Given the description of an element on the screen output the (x, y) to click on. 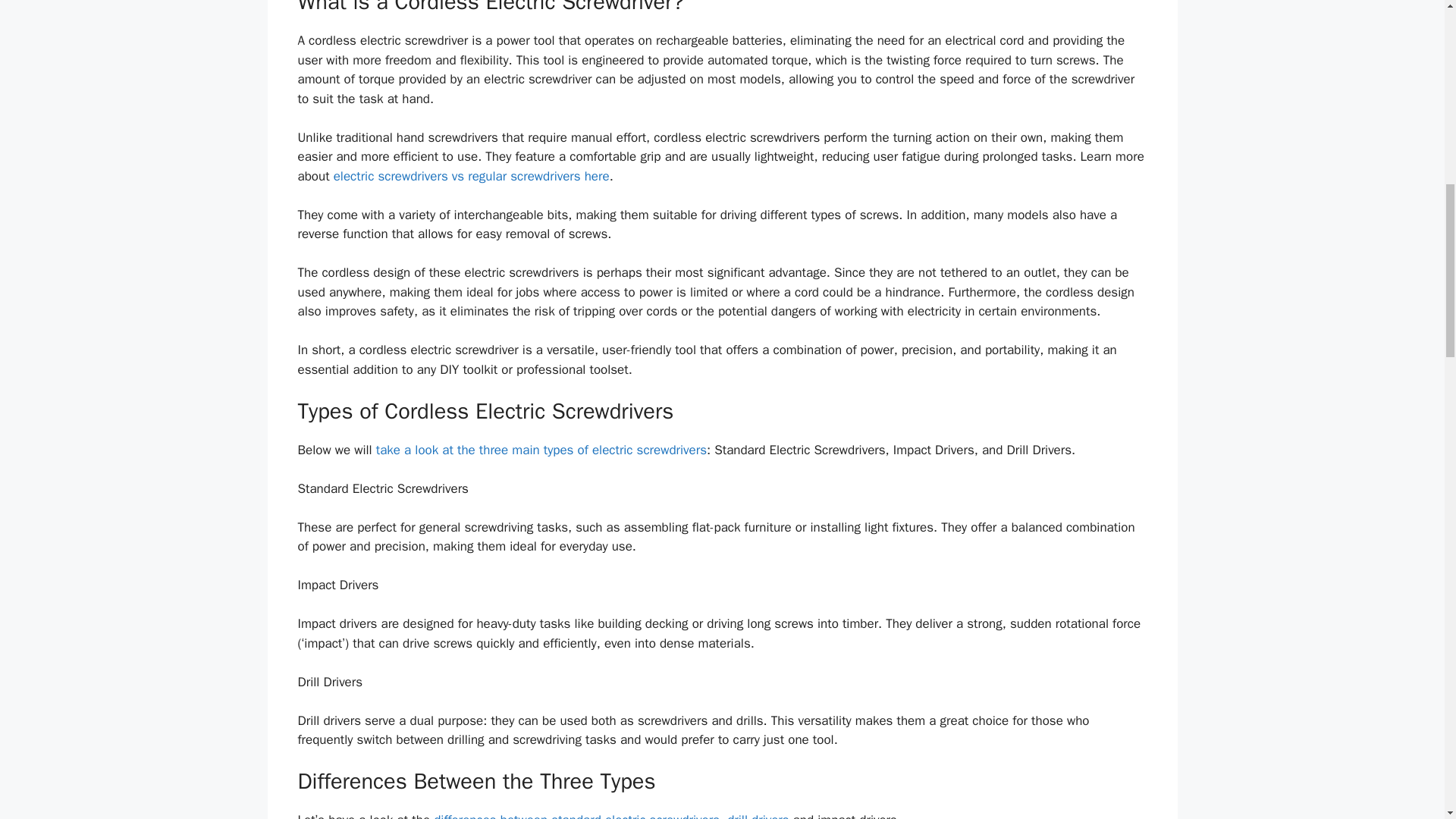
take a look at the three main types of electric screwdrivers (540, 449)
electric screwdrivers vs regular screwdrivers here (471, 176)
Scroll back to top (1406, 720)
